Given the description of an element on the screen output the (x, y) to click on. 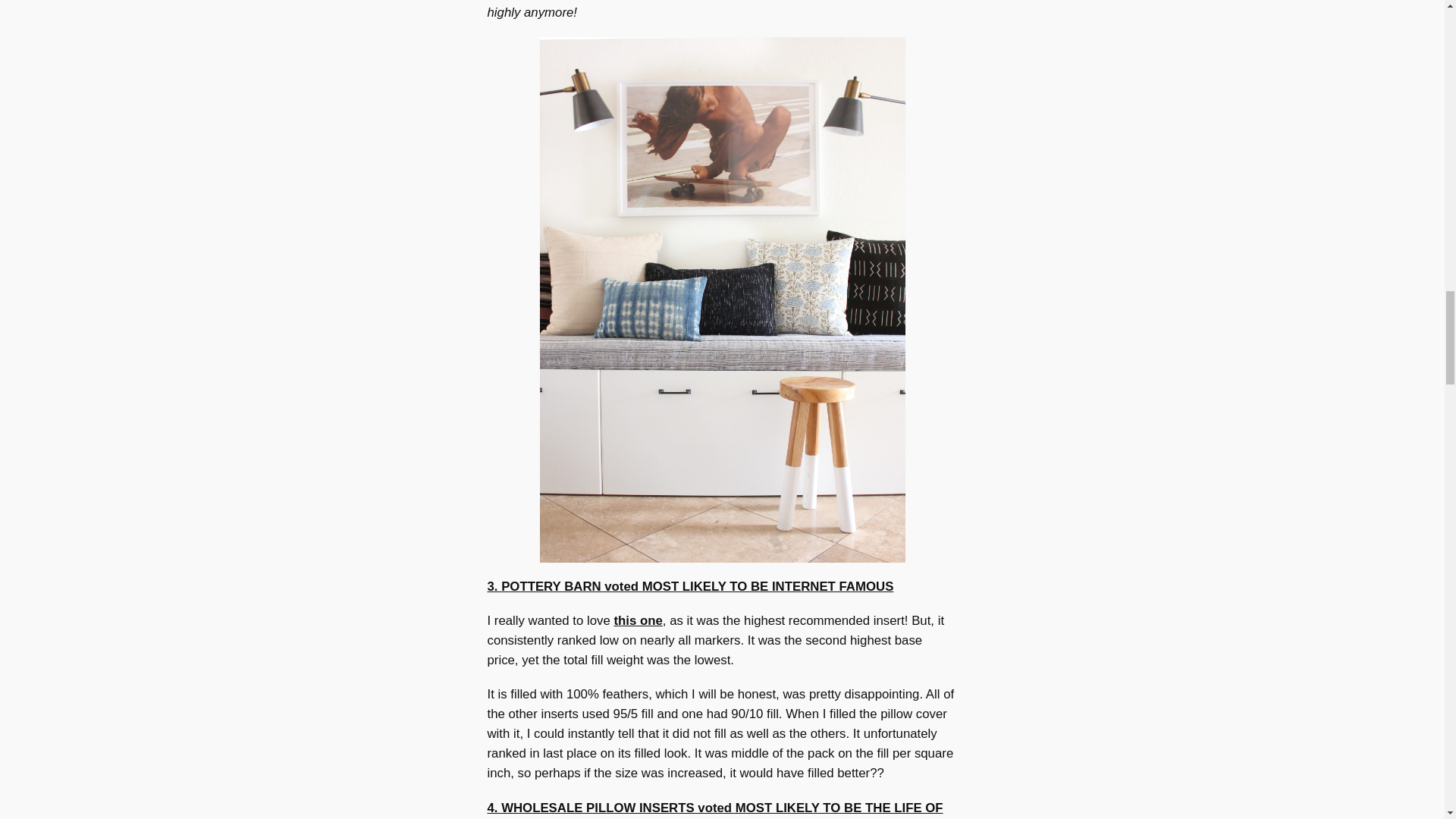
this one (637, 620)
3. POTTERY BARN voted MOST LIKELY TO BE INTERNET FAMOUS (689, 586)
